Given the description of an element on the screen output the (x, y) to click on. 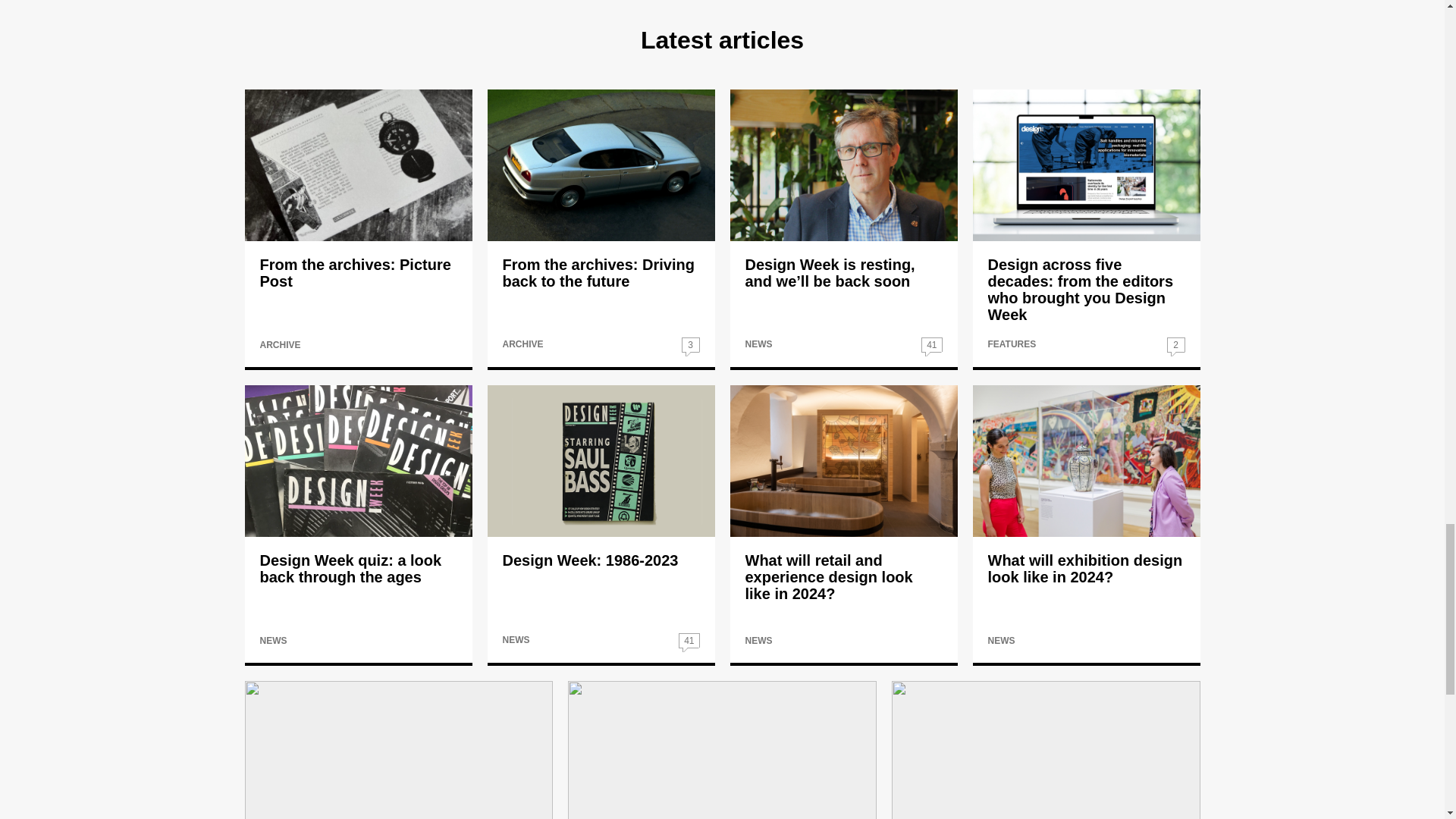
ARCHIVE (522, 344)
FEATURES (1011, 344)
From the archives: Picture Post (354, 272)
ARCHIVE (279, 344)
NEWS (757, 344)
From the archives: Driving back to the future (598, 272)
